Given the description of an element on the screen output the (x, y) to click on. 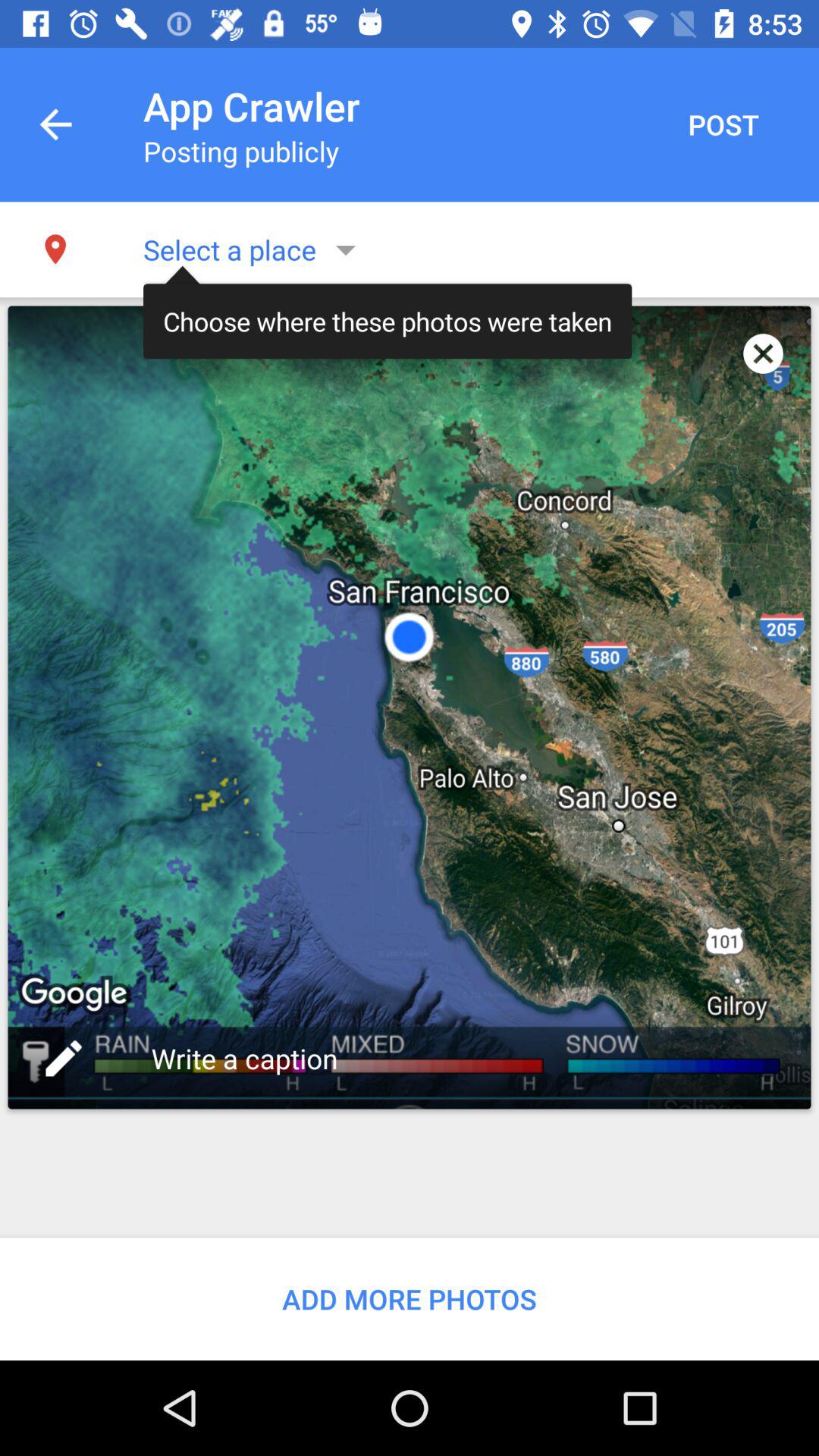
flip to the add more photos app (409, 1298)
